Given the description of an element on the screen output the (x, y) to click on. 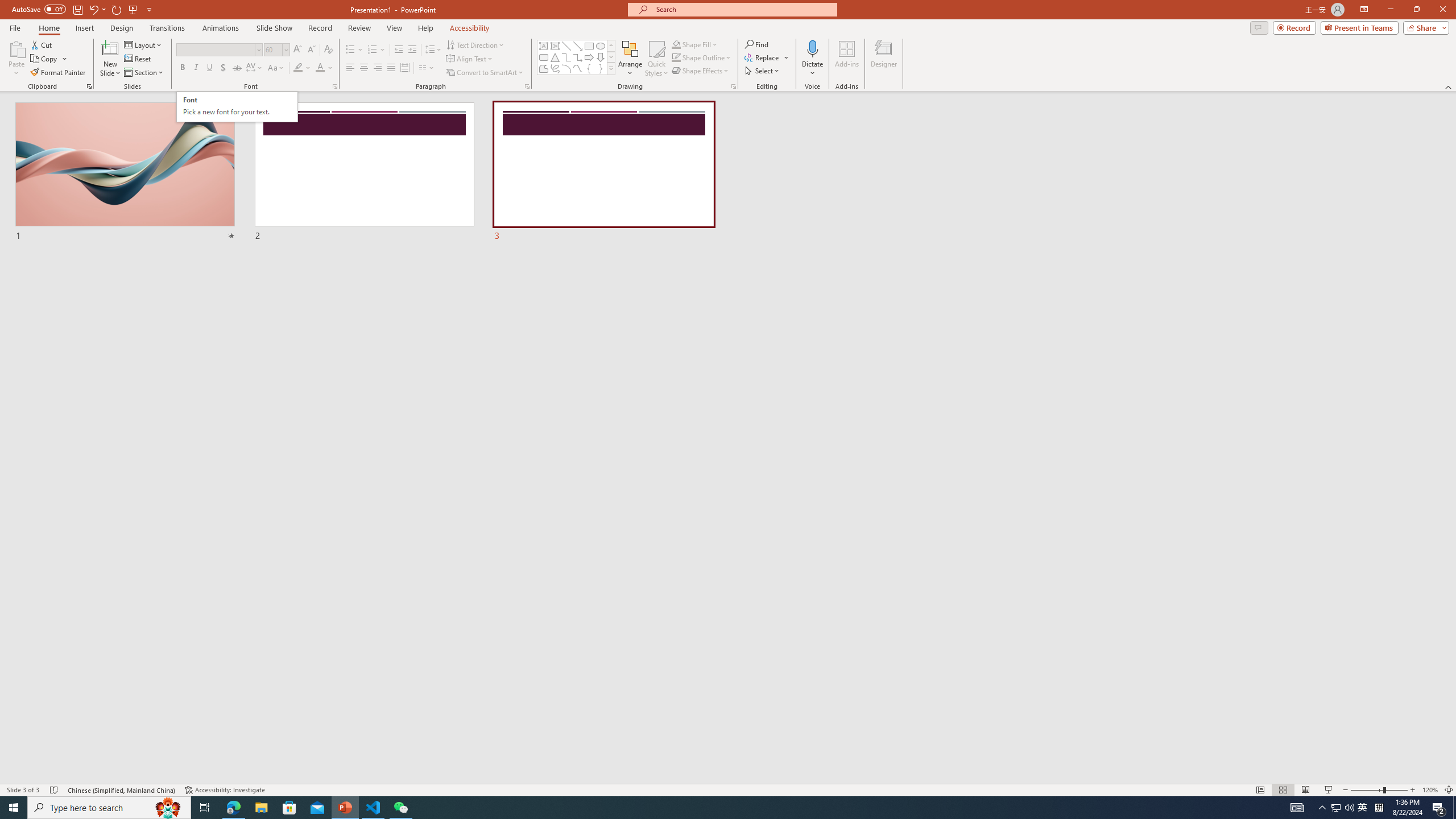
Zoom 120% (1430, 790)
